Given the description of an element on the screen output the (x, y) to click on. 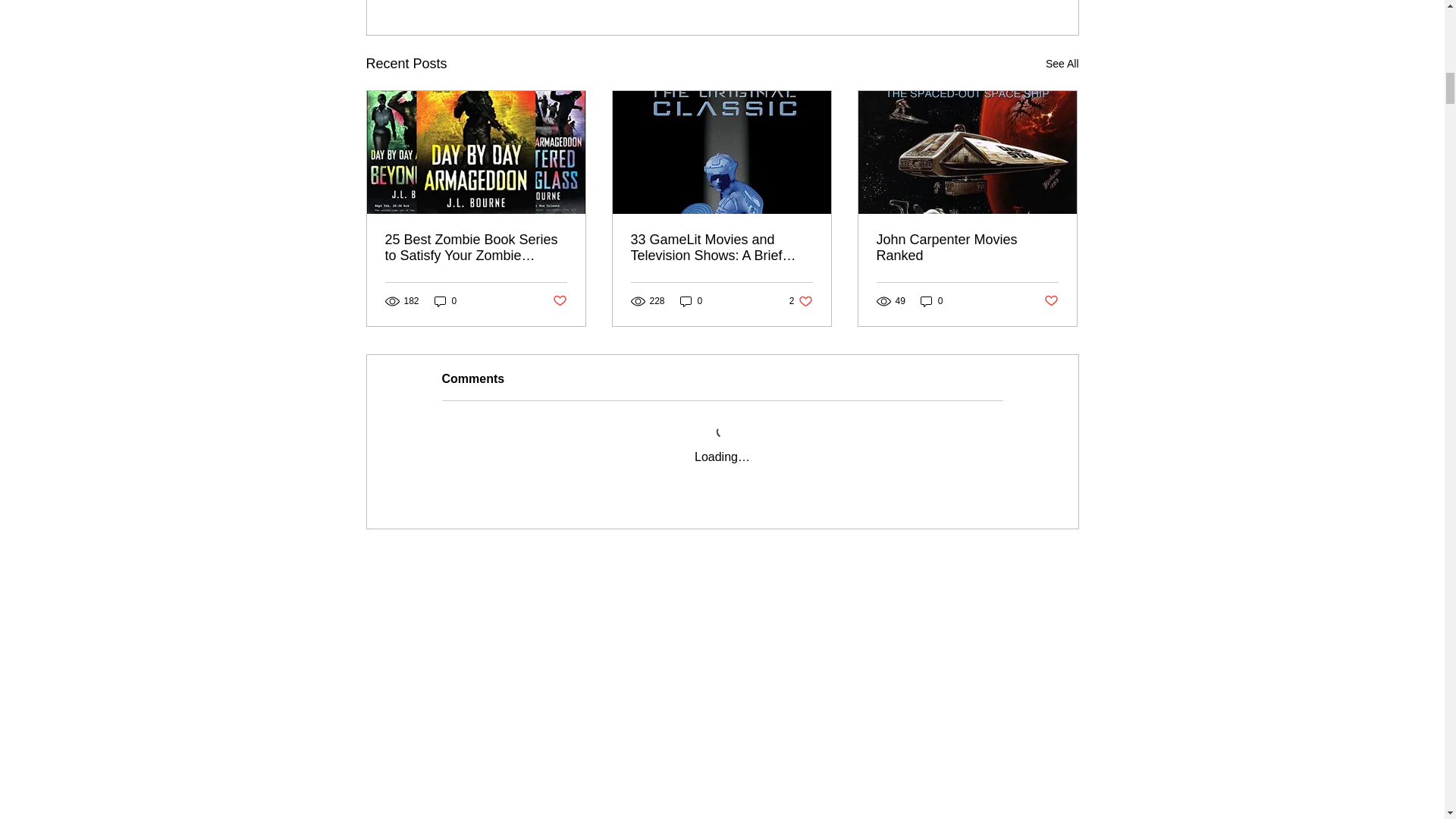
Post not marked as liked (558, 301)
See All (1061, 64)
0 (800, 301)
0 (691, 301)
